Given the description of an element on the screen output the (x, y) to click on. 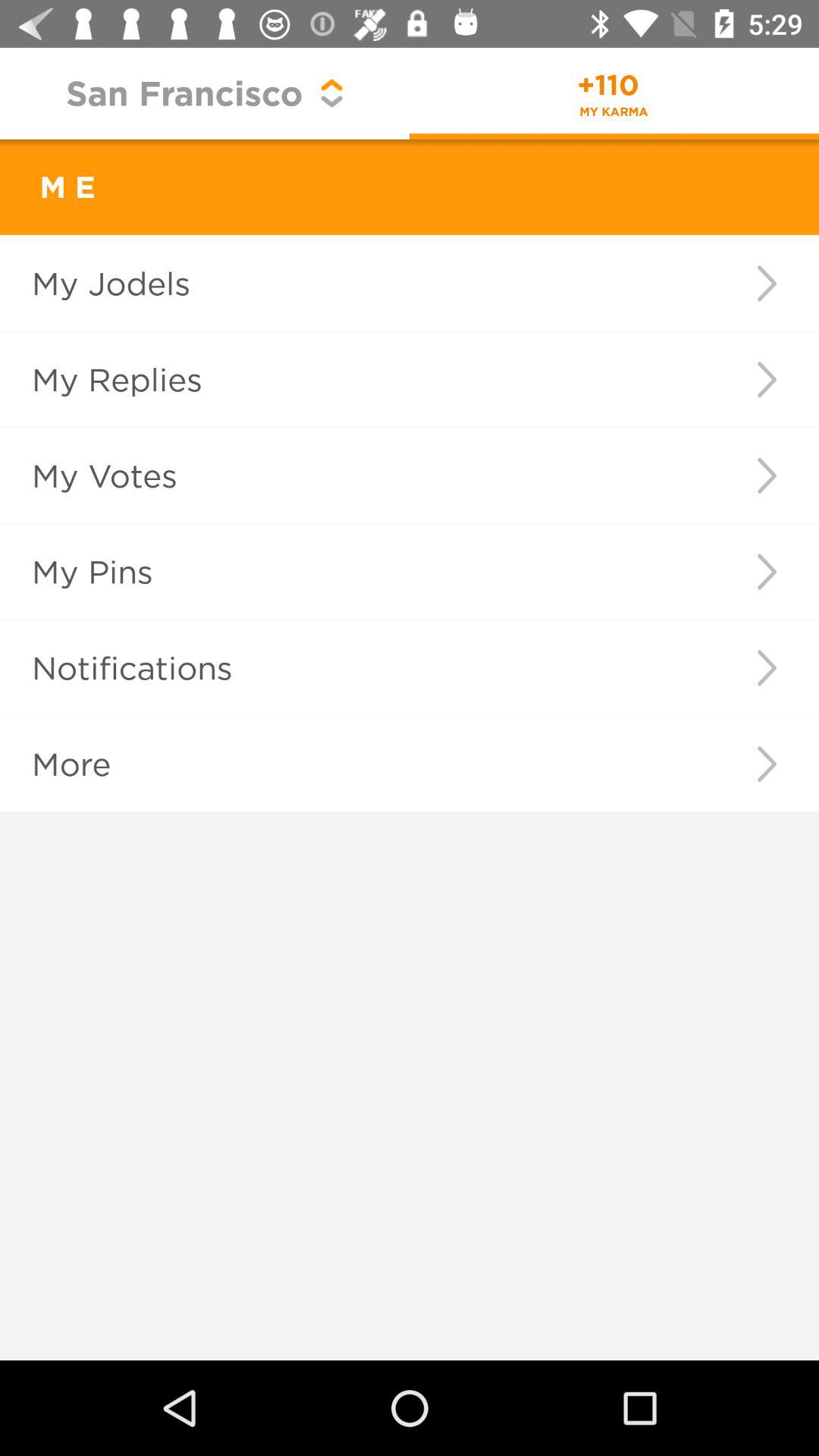
click the icon below my replies (351, 475)
